Given the description of an element on the screen output the (x, y) to click on. 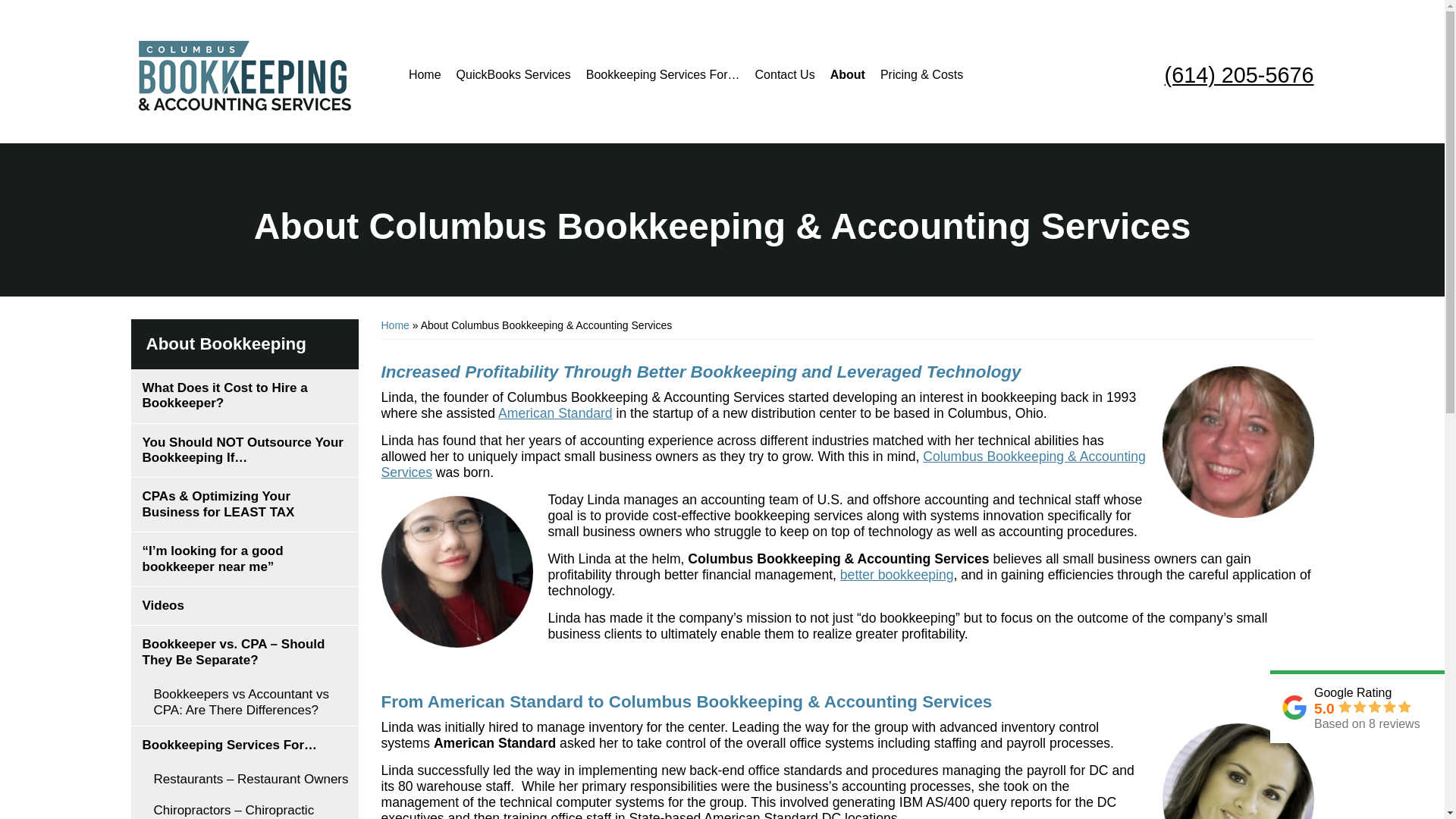
QuickBooks Services (513, 70)
Contact Us (785, 74)
What Does it Cost to Hire a Bookkeeper? (244, 396)
Bookkeepers vs Accountant vs CPA: Are There Differences? (244, 702)
Ask Linda for help with QuickBooks in your small business (1237, 441)
Ask Laural for help with your bookkeeping (1237, 771)
About (847, 70)
Home (424, 74)
Videos (244, 605)
What is Comodo Secure SSL? (1227, 32)
